Given the description of an element on the screen output the (x, y) to click on. 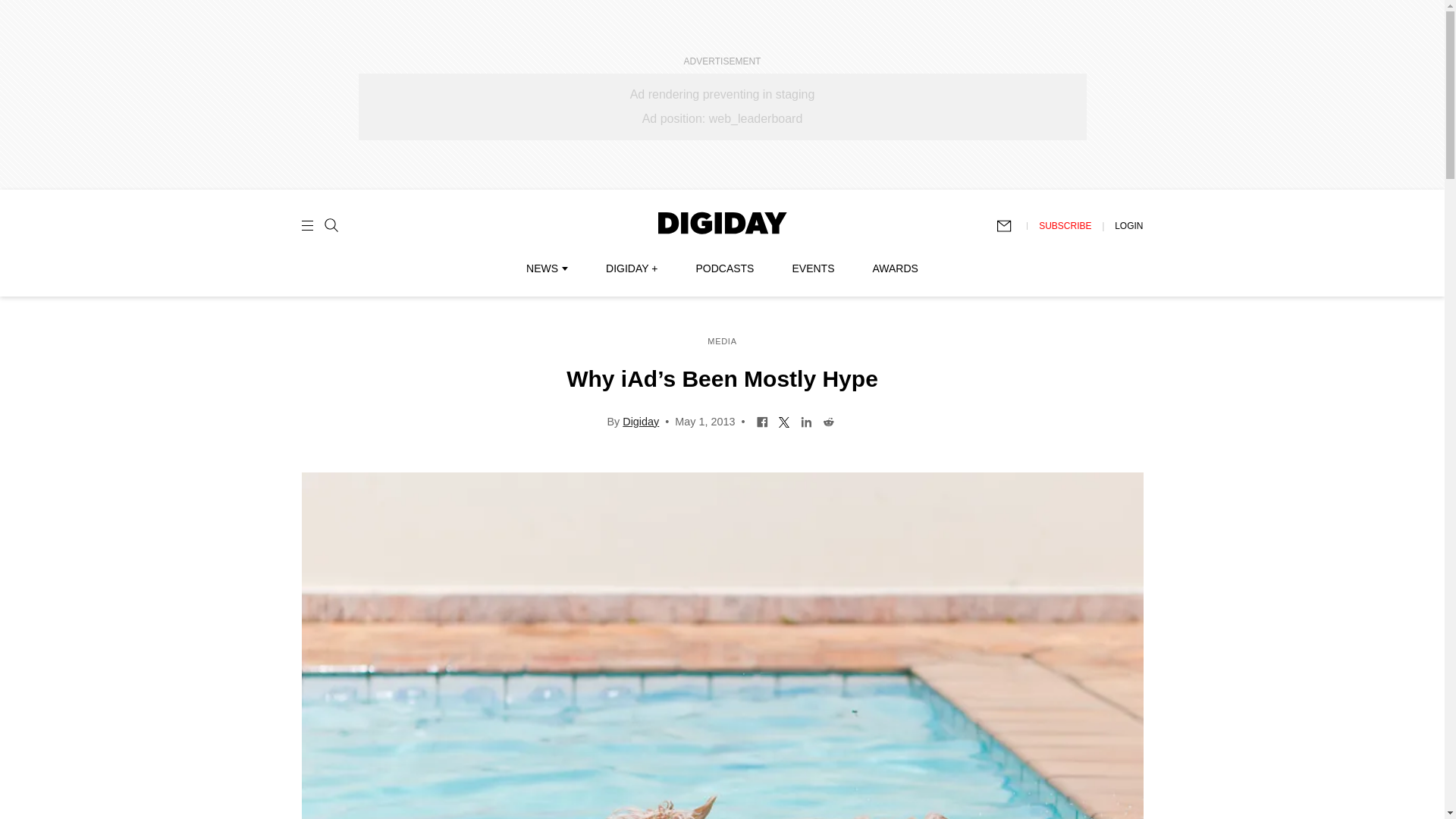
PODCASTS (725, 267)
Share on LinkedIn (805, 420)
NEWS (546, 267)
AWARDS (894, 267)
Subscribe (1010, 225)
EVENTS (813, 267)
Share on Facebook (761, 420)
Share on Reddit (828, 420)
Share on Twitter (783, 420)
SUBSCRIBE (1064, 225)
LOGIN (1128, 225)
